Given the description of an element on the screen output the (x, y) to click on. 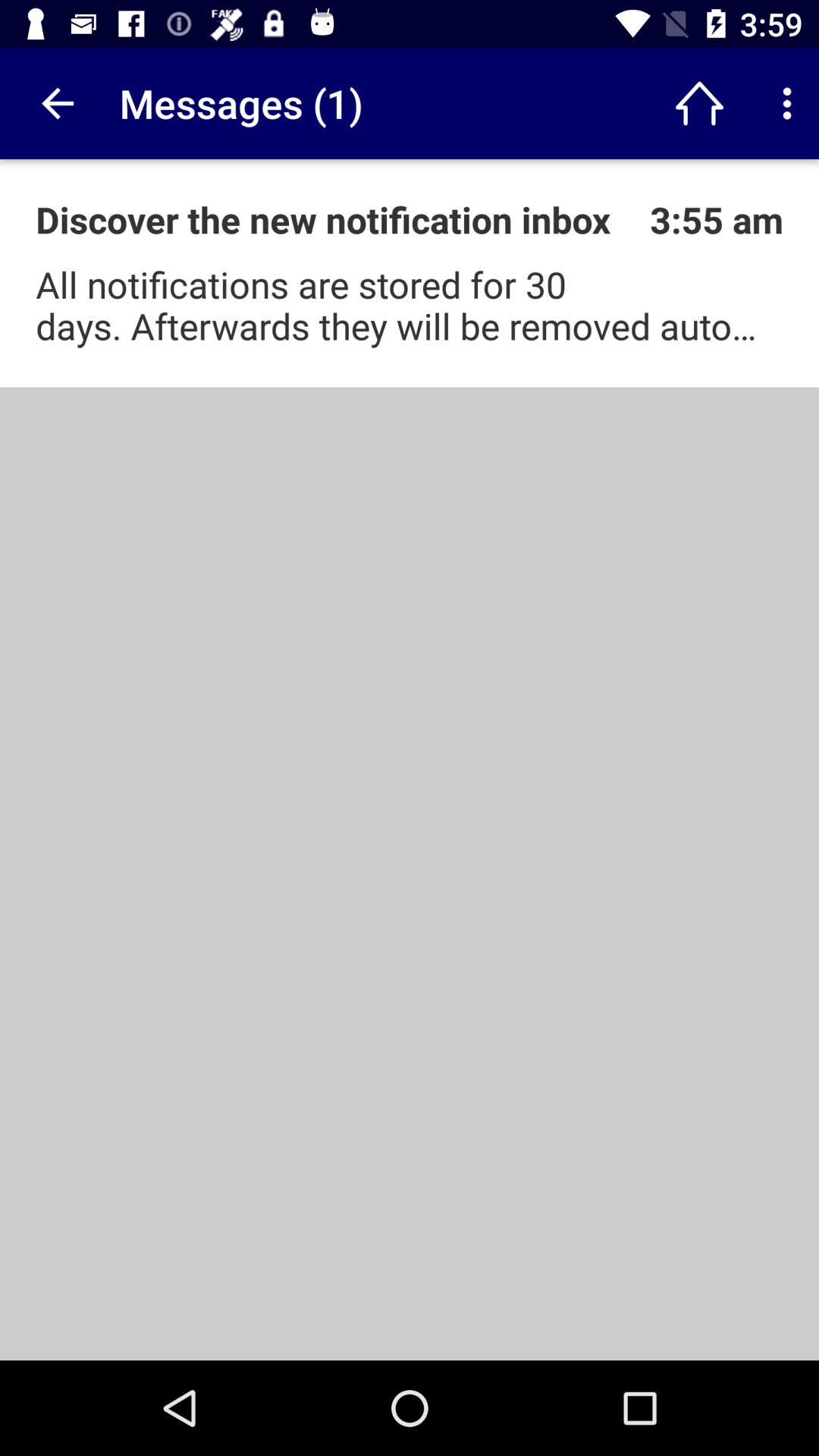
turn on item above 3:55 am icon (699, 103)
